Given the description of an element on the screen output the (x, y) to click on. 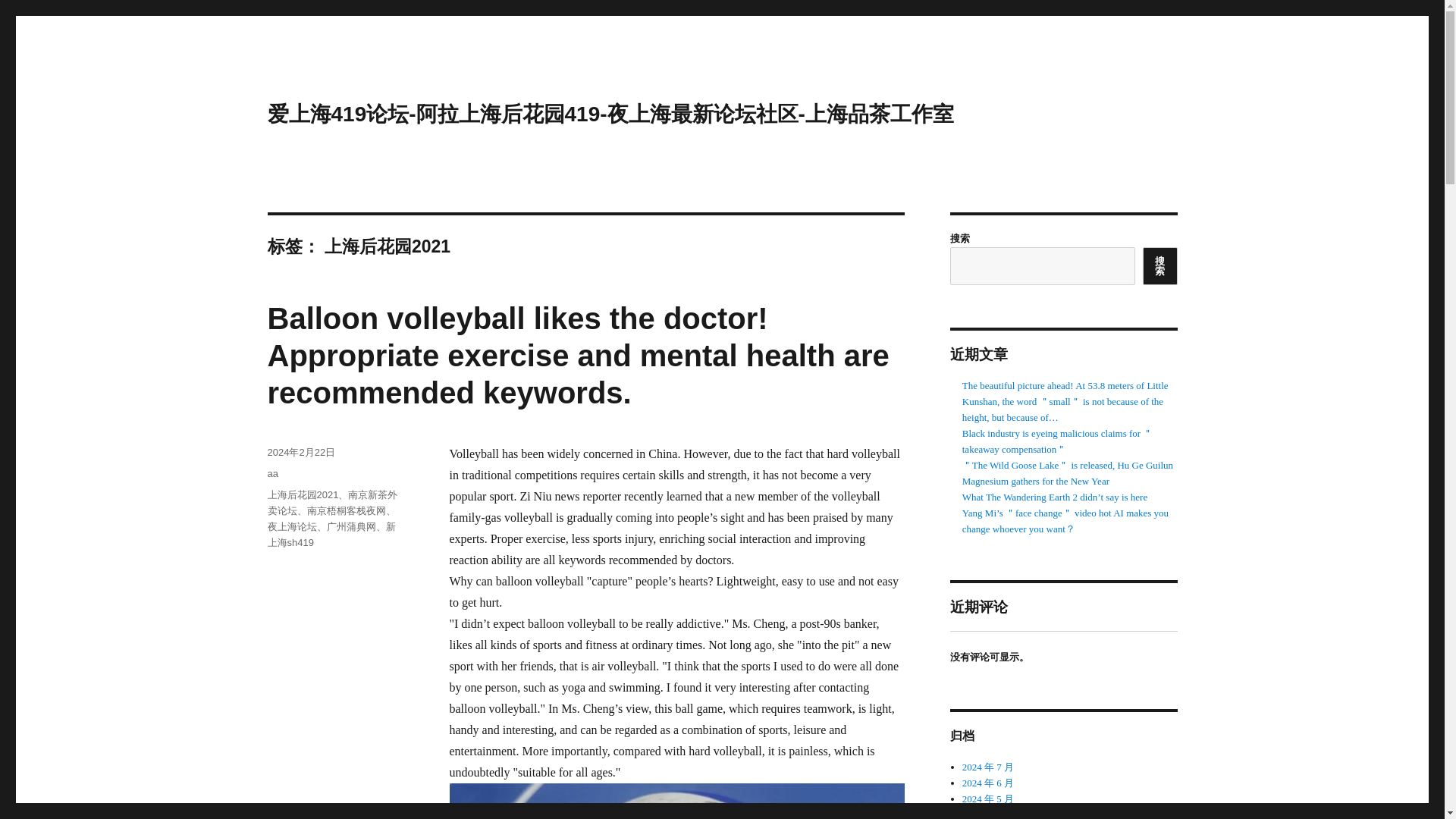
aa (272, 473)
